Given the description of an element on the screen output the (x, y) to click on. 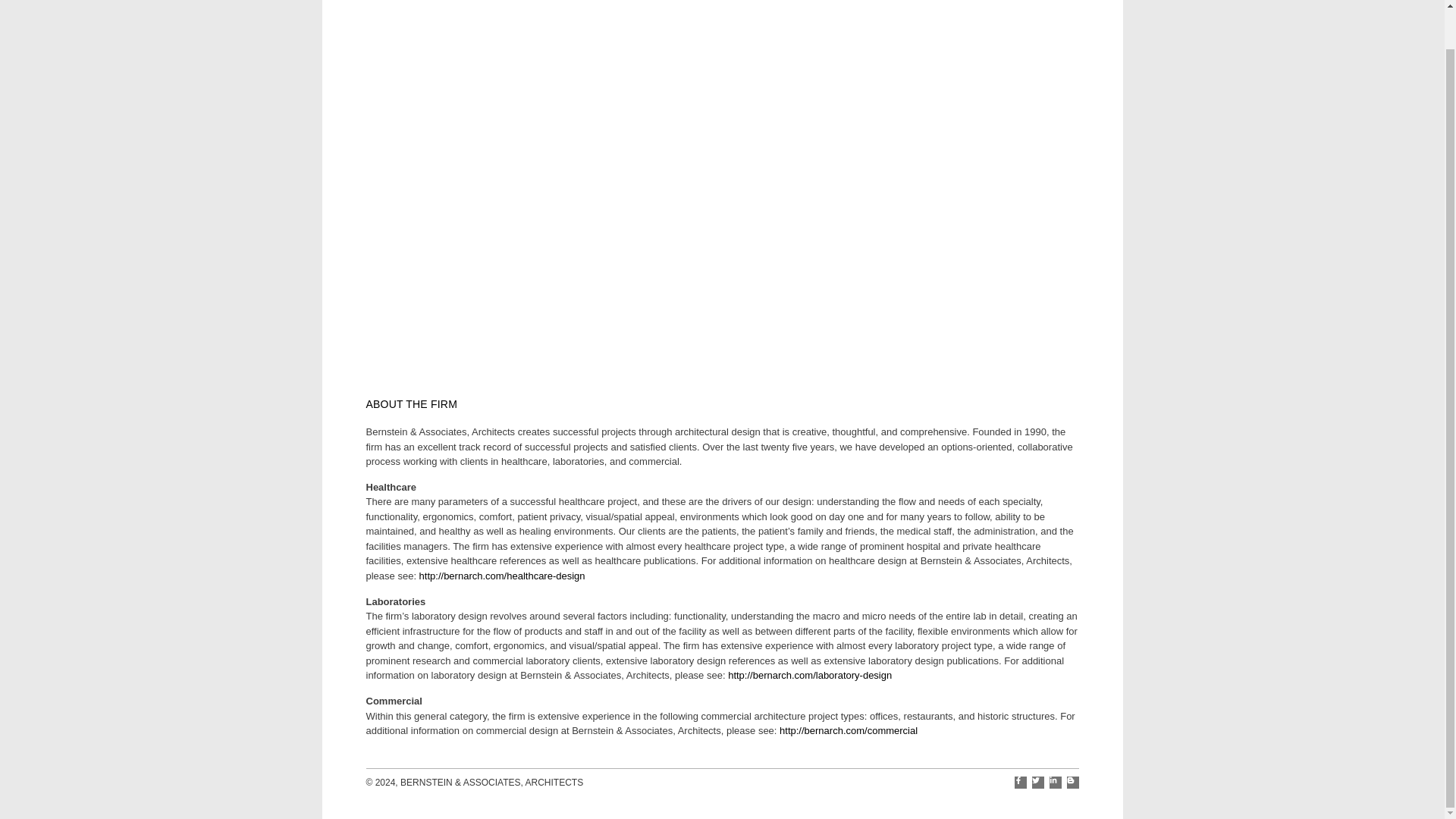
HOME (730, 0)
SERVICES (871, 0)
ABOUT (796, 0)
CONTACT (1052, 0)
PROJECTS (962, 0)
